Given the description of an element on the screen output the (x, y) to click on. 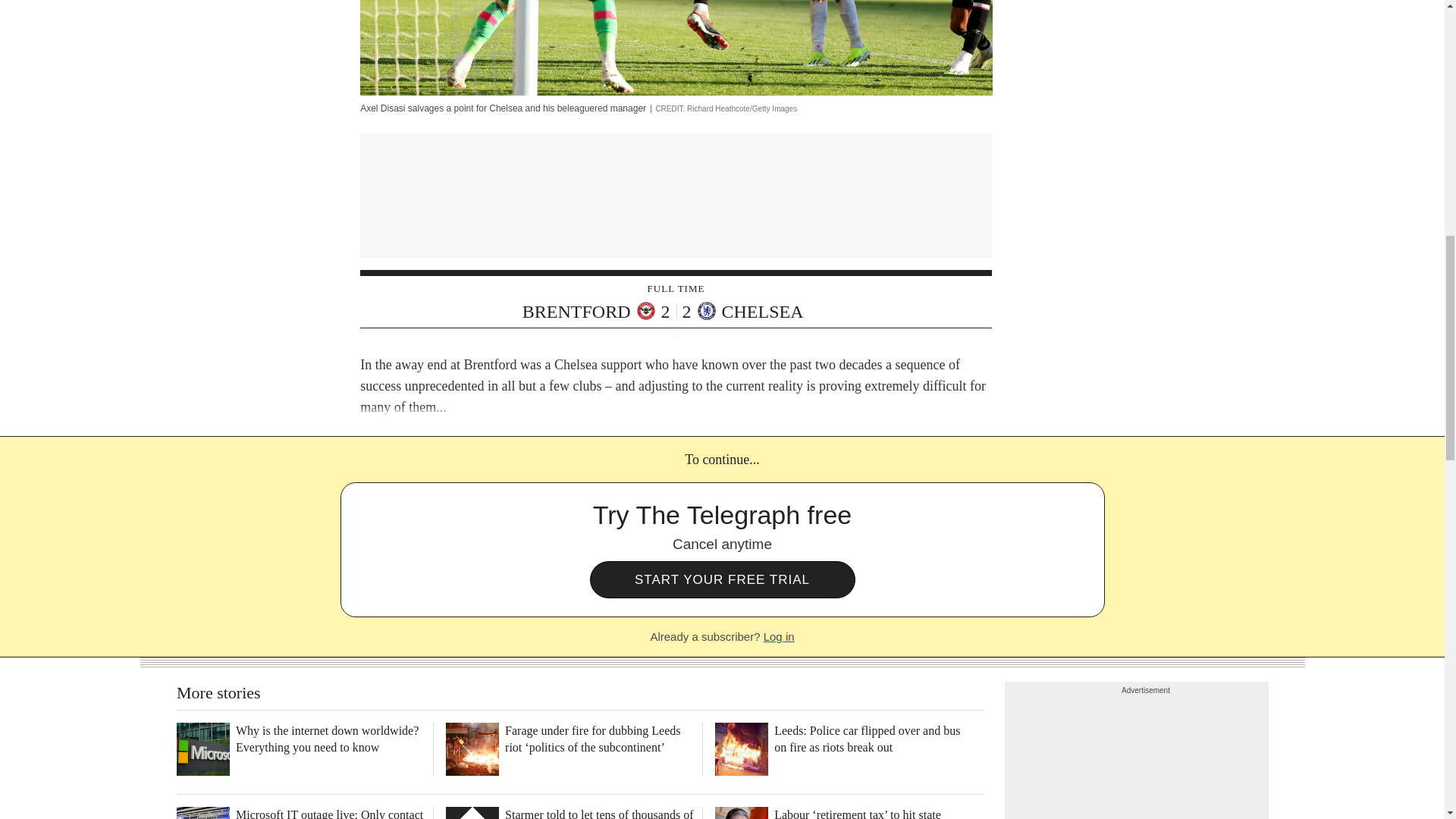
Match Summary: Brentford vs Chelsea (675, 303)
